Given the description of an element on the screen output the (x, y) to click on. 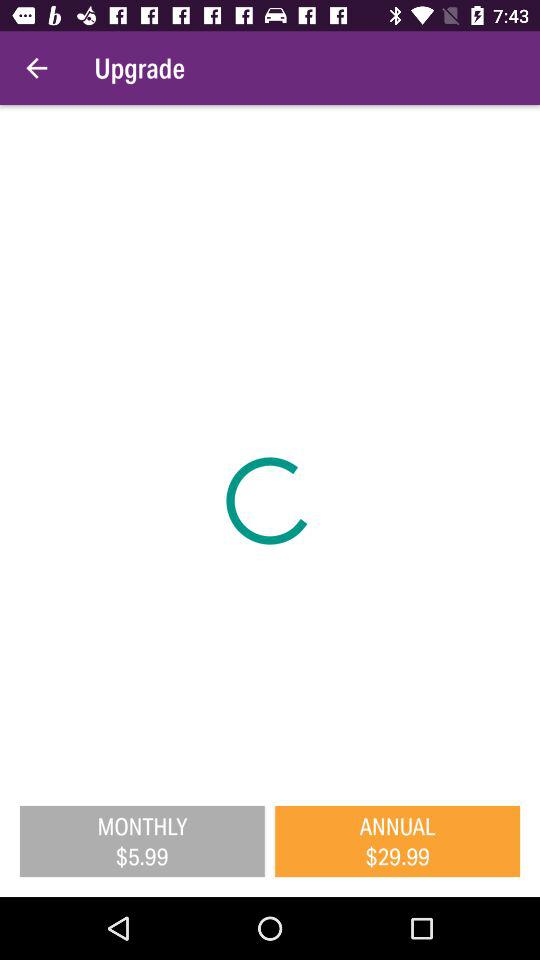
tap the icon above the monthly
$5.99 icon (270, 445)
